Given the description of an element on the screen output the (x, y) to click on. 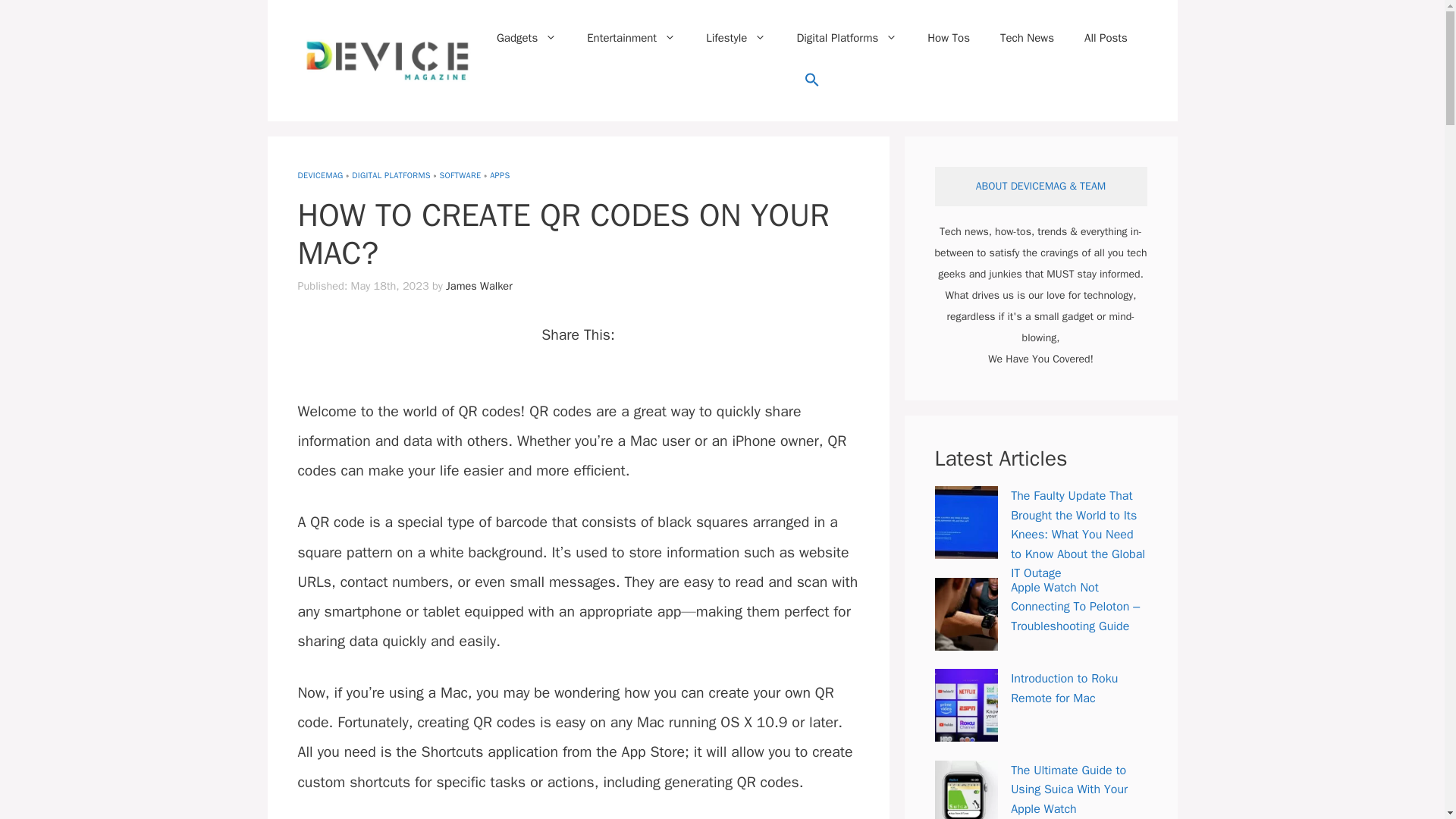
Gadgets (526, 37)
View all posts by James Walker (478, 285)
Entertainment (631, 37)
Lifestyle (735, 37)
Digital Platforms (846, 37)
